Given the description of an element on the screen output the (x, y) to click on. 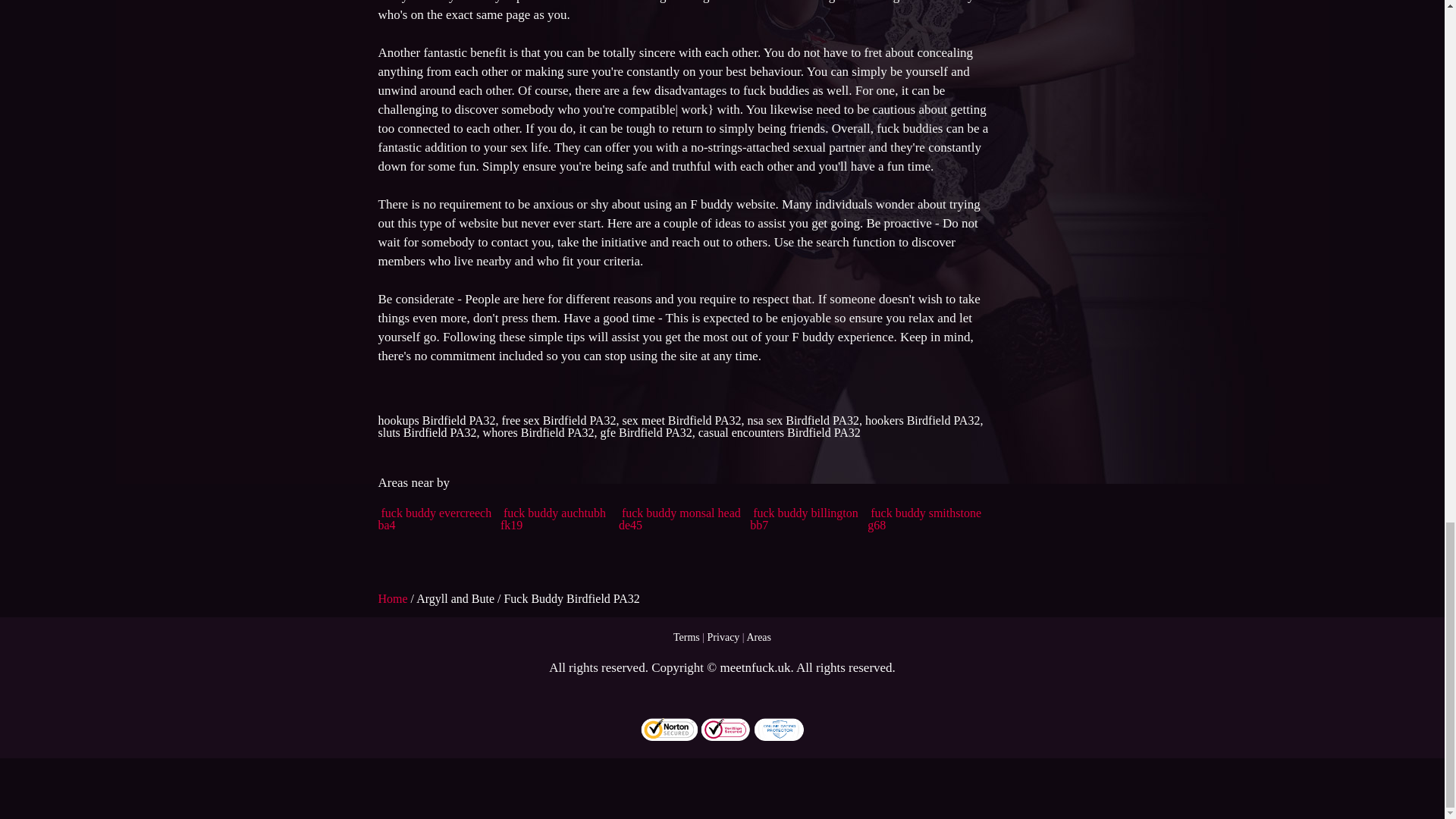
meetnfuck.uk (755, 667)
Privacy (723, 636)
Terms (686, 636)
Areas (758, 636)
Home (393, 598)
fuck buddy billington bb7 (804, 518)
Terms (686, 636)
meetnfuck.uk (755, 667)
fuck buddy smithstone g68 (924, 518)
Areas (758, 636)
